Given the description of an element on the screen output the (x, y) to click on. 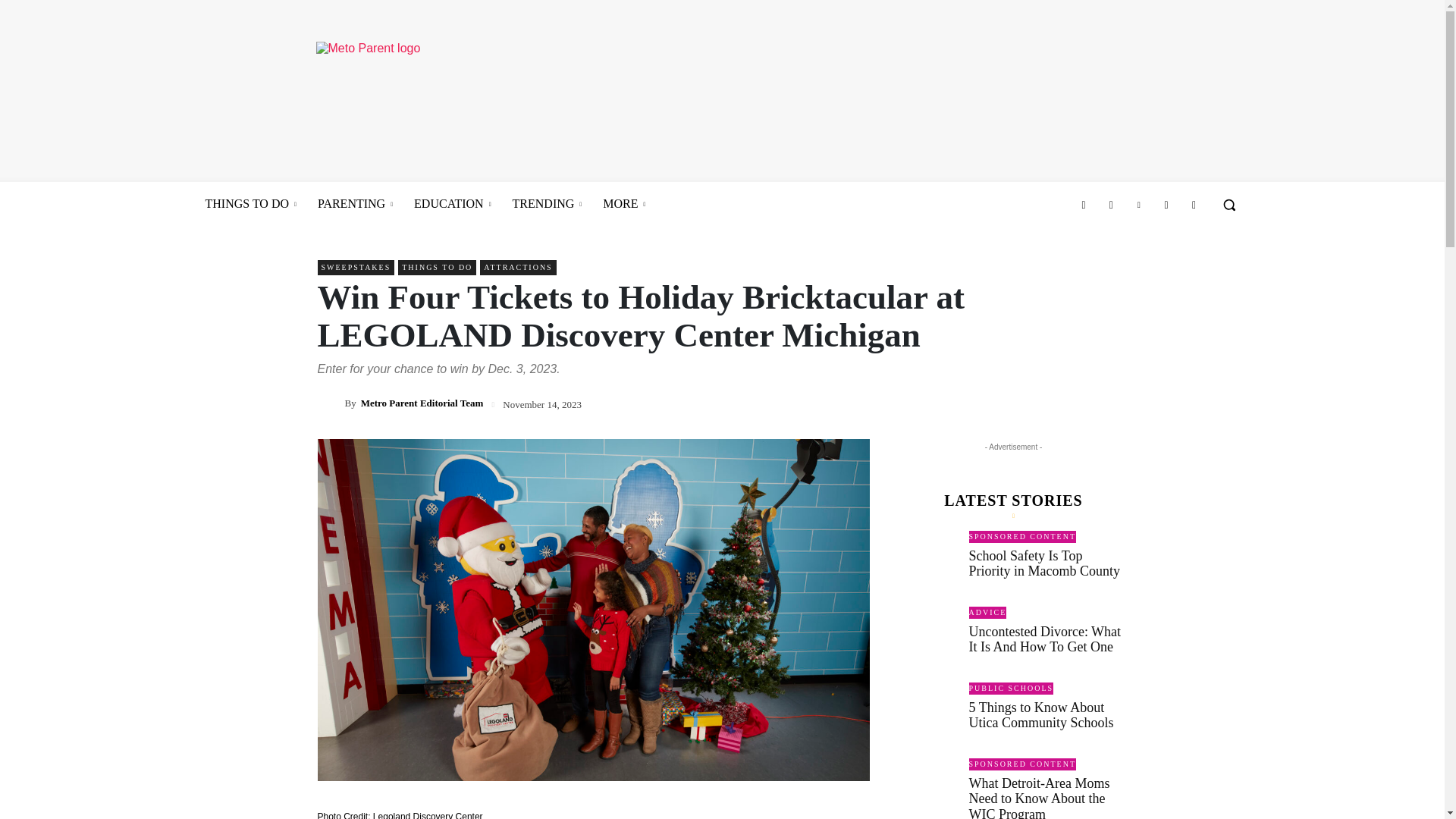
Twitter (1166, 204)
Pinterest (1139, 204)
Facebook (1083, 204)
Instagram (1110, 204)
Youtube (1193, 204)
